Given the description of an element on the screen output the (x, y) to click on. 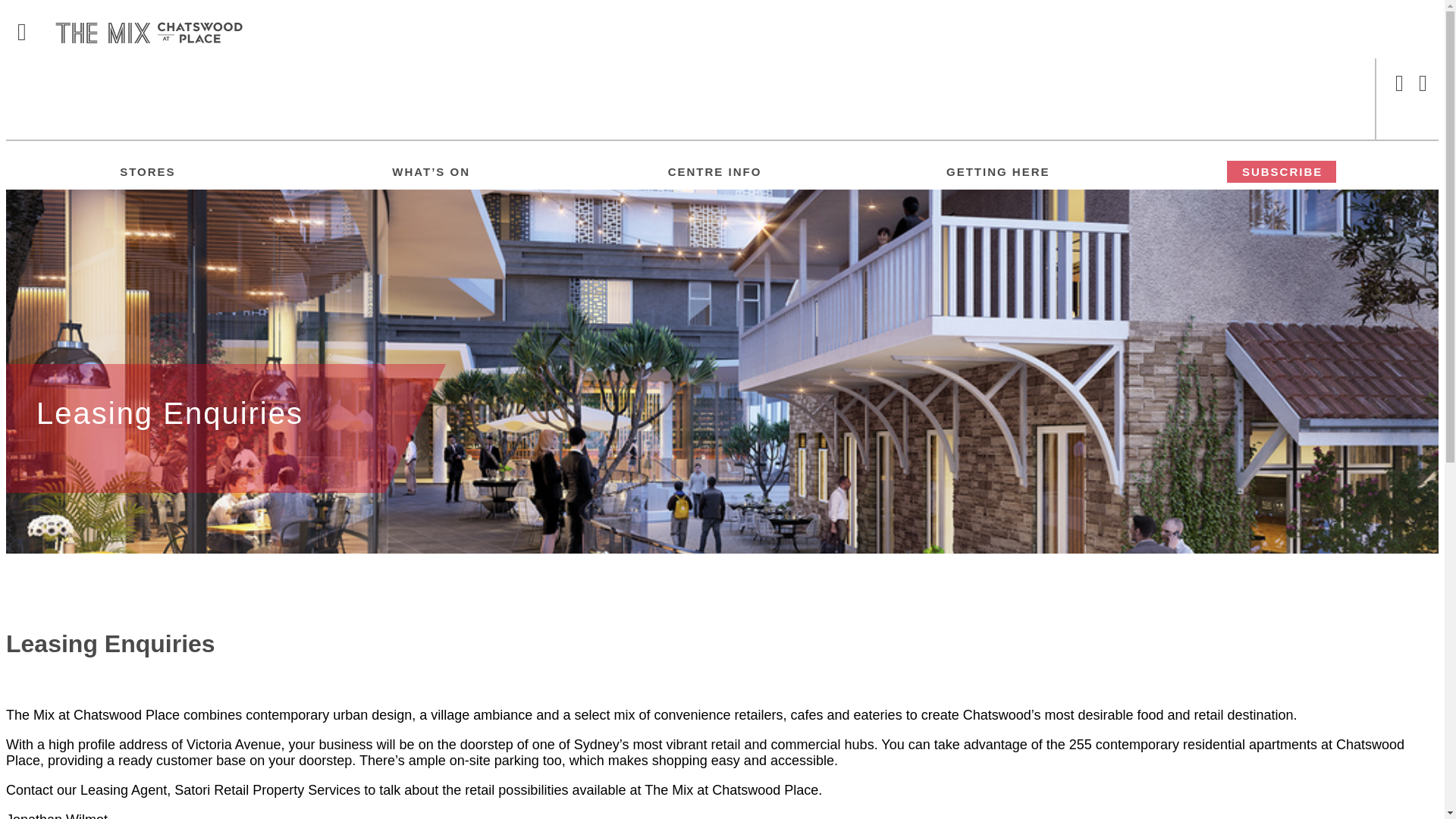
STORES (147, 171)
SUBSCRIBE (1281, 171)
CENTRE INFO (715, 171)
GETTING HERE (998, 171)
